Given the description of an element on the screen output the (x, y) to click on. 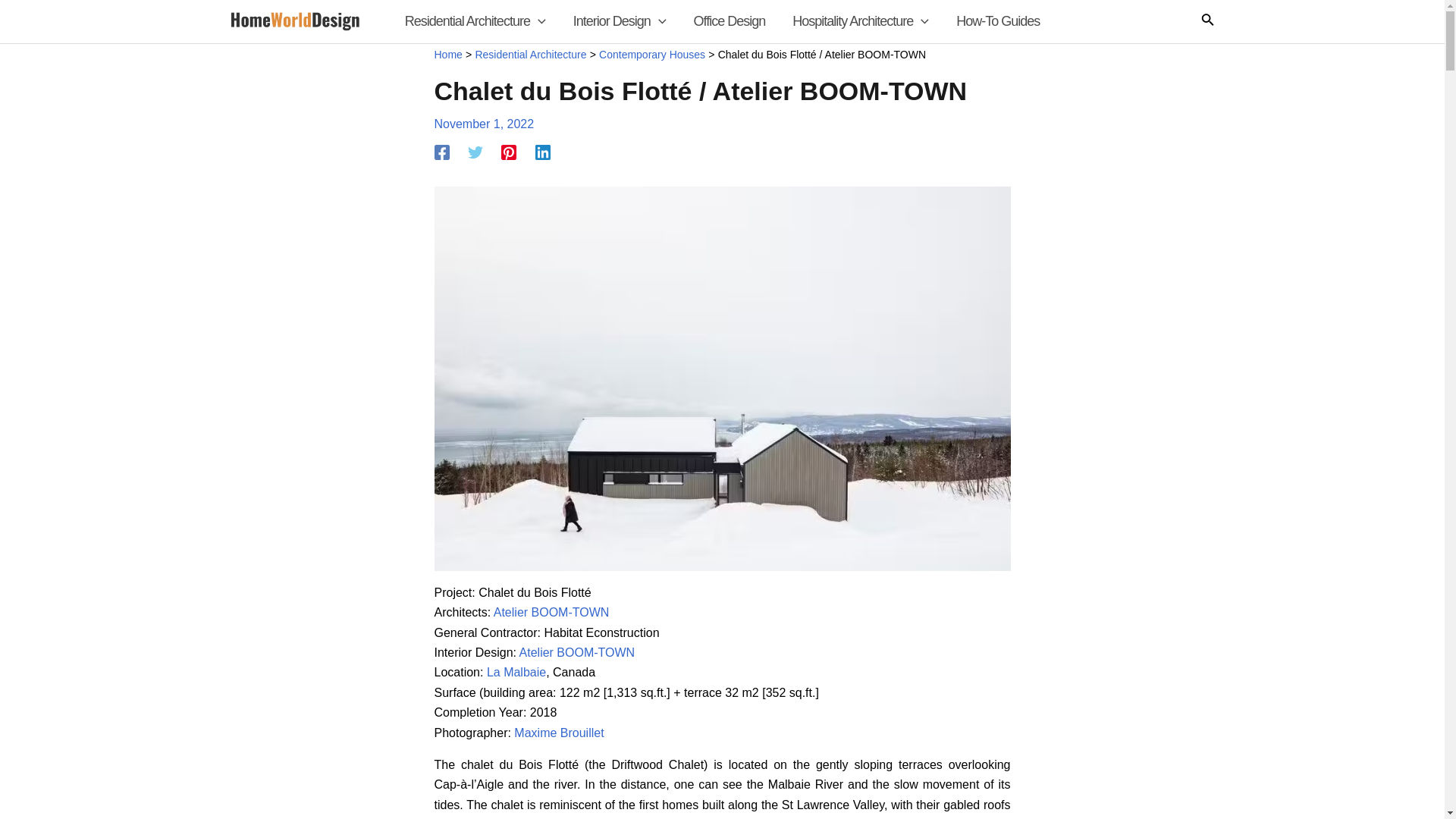
Search (1207, 21)
Office Design (728, 21)
How-To Guides (997, 21)
Hospitality Architecture (860, 21)
Residential Architecture (475, 21)
Interior Design (619, 21)
